Given the description of an element on the screen output the (x, y) to click on. 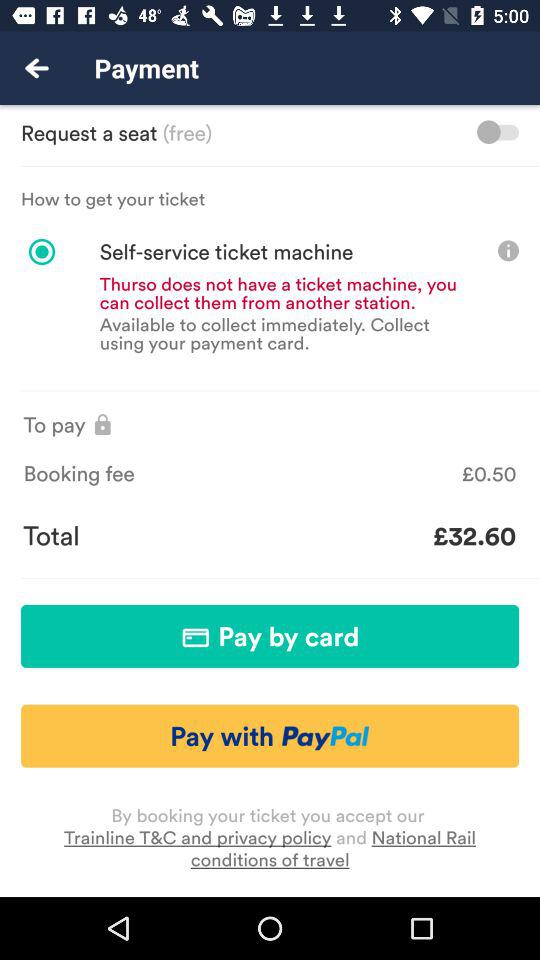
select item next to the (free) (497, 132)
